Given the description of an element on the screen output the (x, y) to click on. 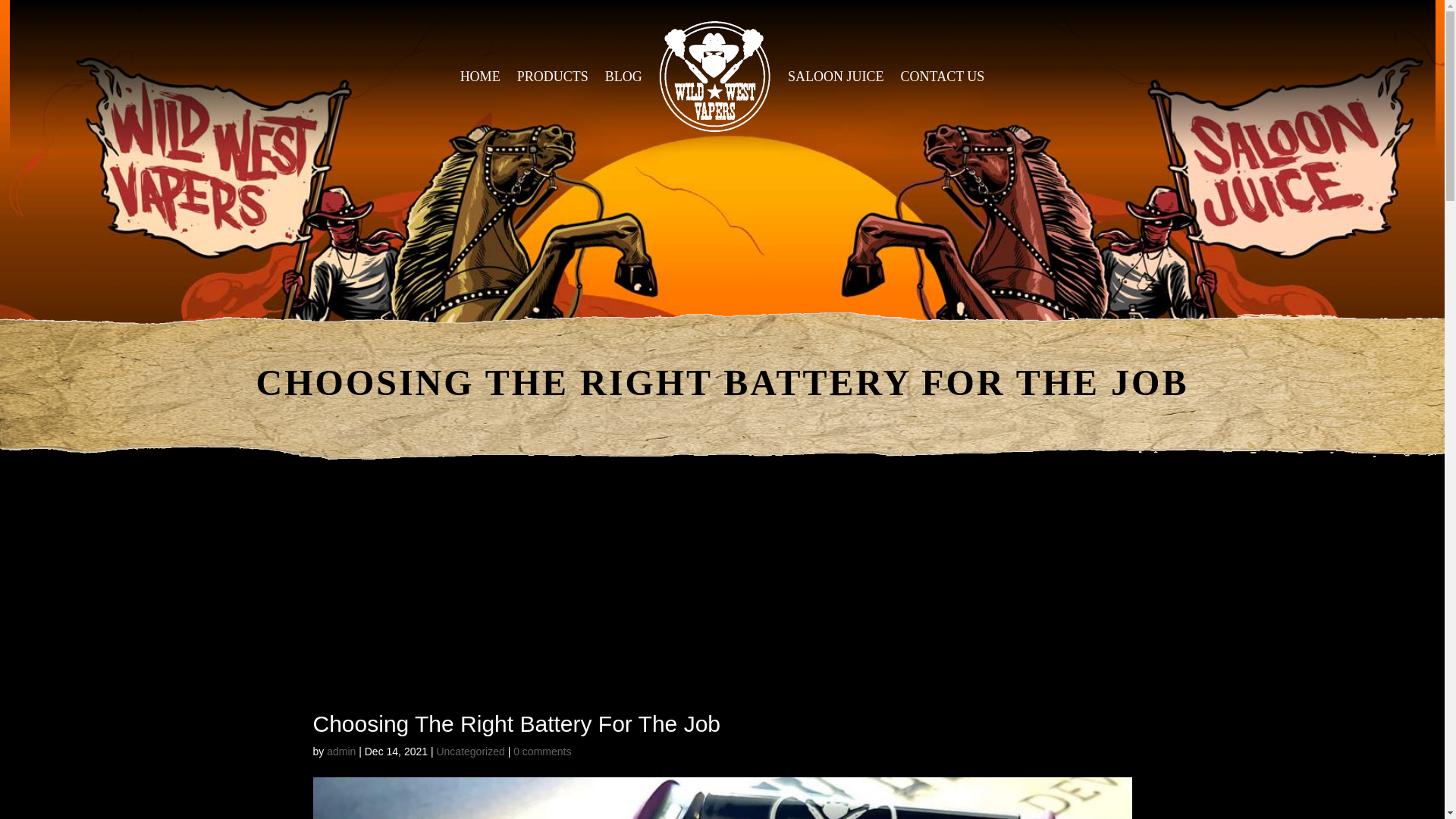
0 comments (541, 751)
Uncategorized (469, 751)
Posts by admin (340, 751)
admin (340, 751)
